Given the description of an element on the screen output the (x, y) to click on. 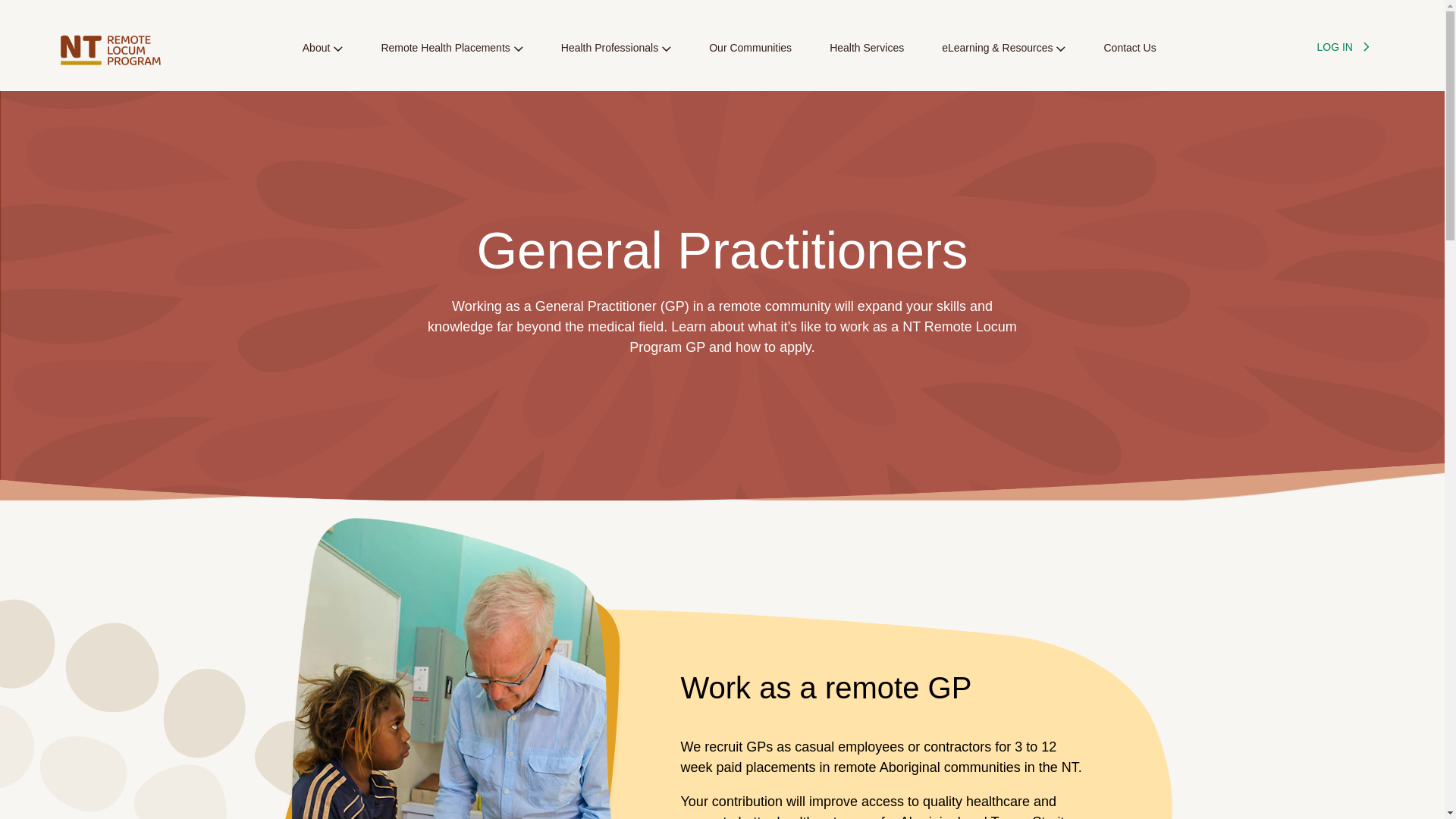
LOG IN (1340, 47)
Health Professionals (615, 55)
Remote Health Placements (451, 55)
Our Communities (750, 55)
Contact Us (1129, 55)
About (322, 55)
Health Services (866, 55)
